Given the description of an element on the screen output the (x, y) to click on. 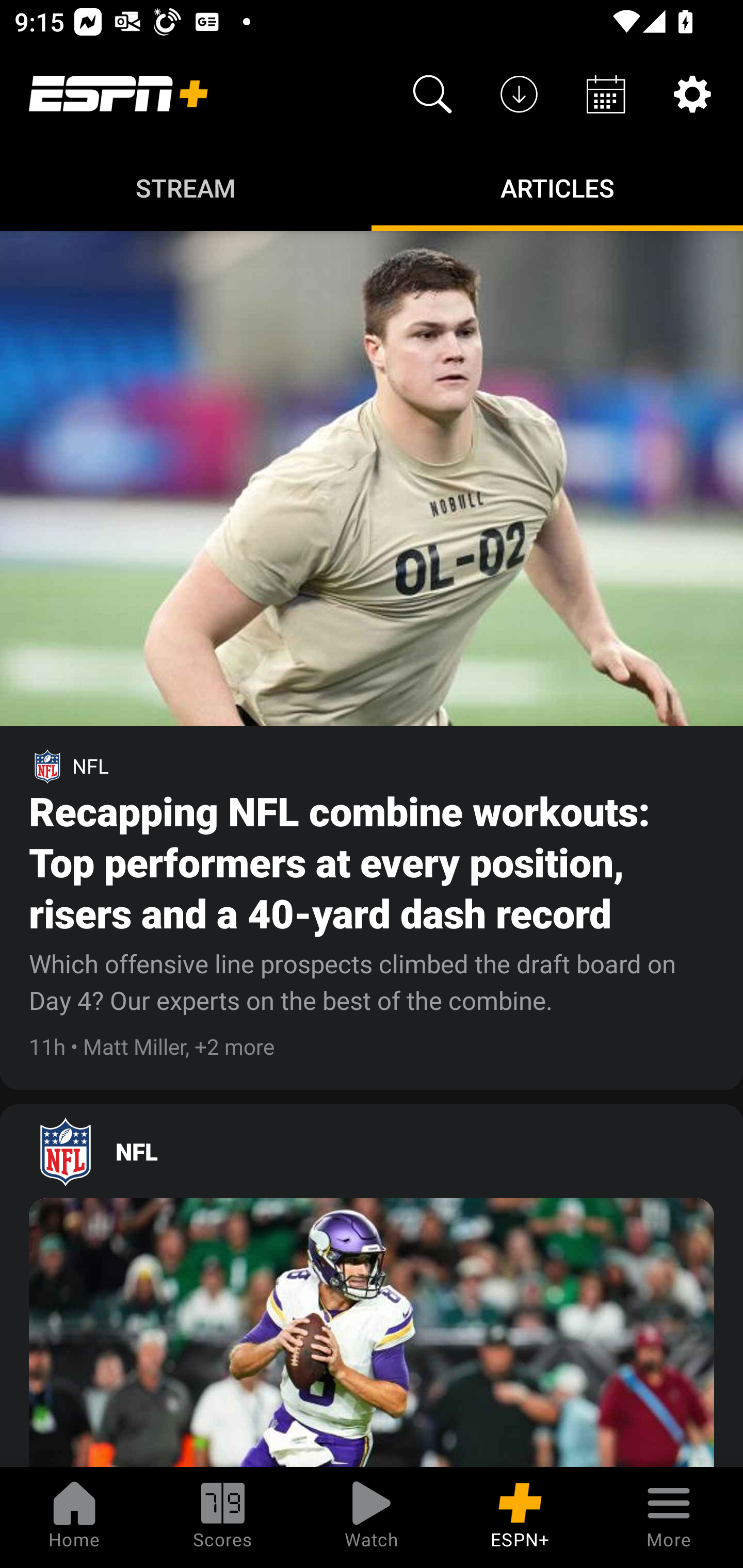
Search (432, 93)
Downloads (518, 93)
Schedule (605, 93)
Settings (692, 93)
Stream STREAM (185, 187)
Home (74, 1517)
Scores (222, 1517)
Watch (371, 1517)
More (668, 1517)
